Given the description of an element on the screen output the (x, y) to click on. 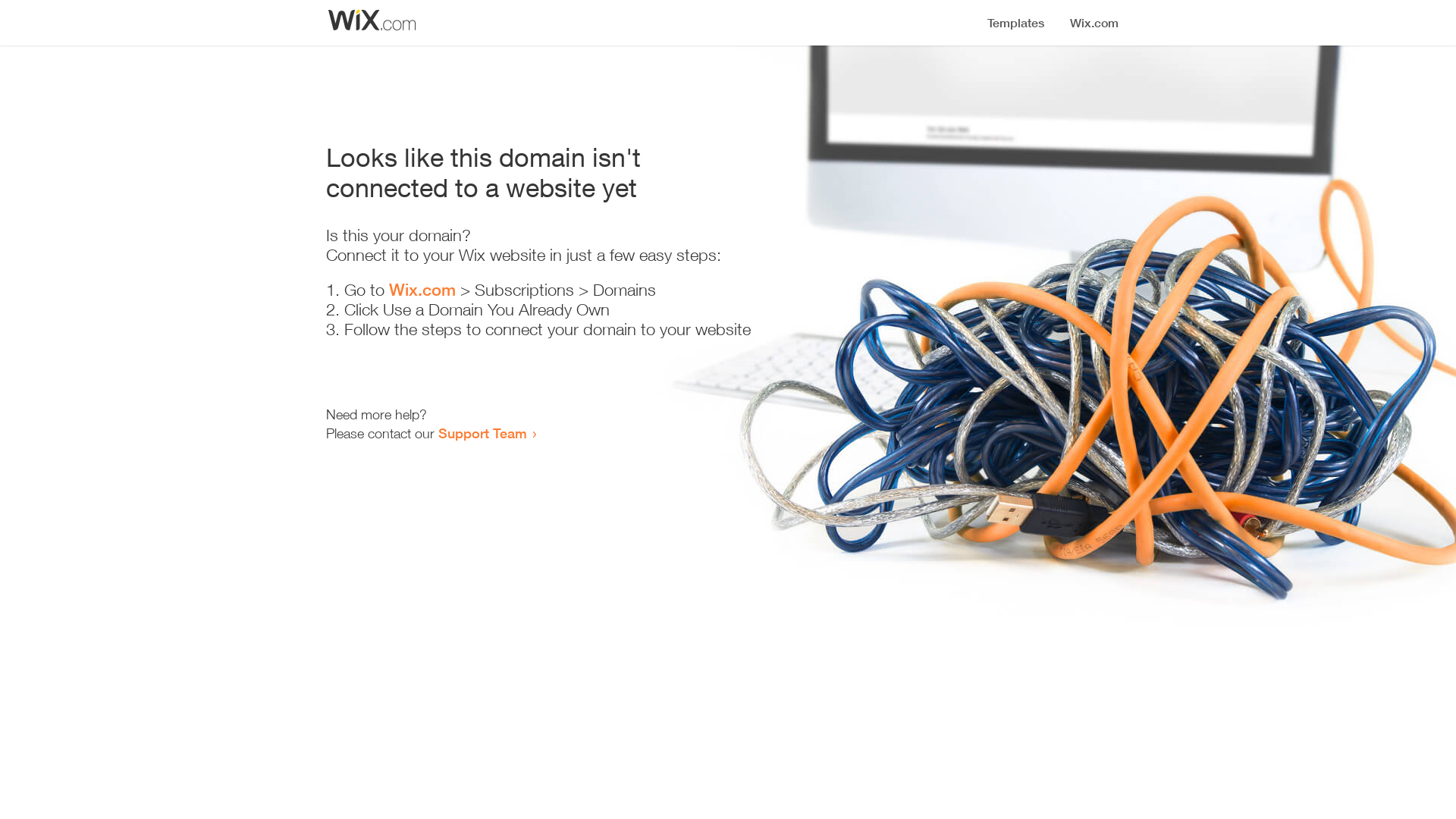
Support Team Element type: text (482, 432)
Wix.com Element type: text (422, 289)
